Given the description of an element on the screen output the (x, y) to click on. 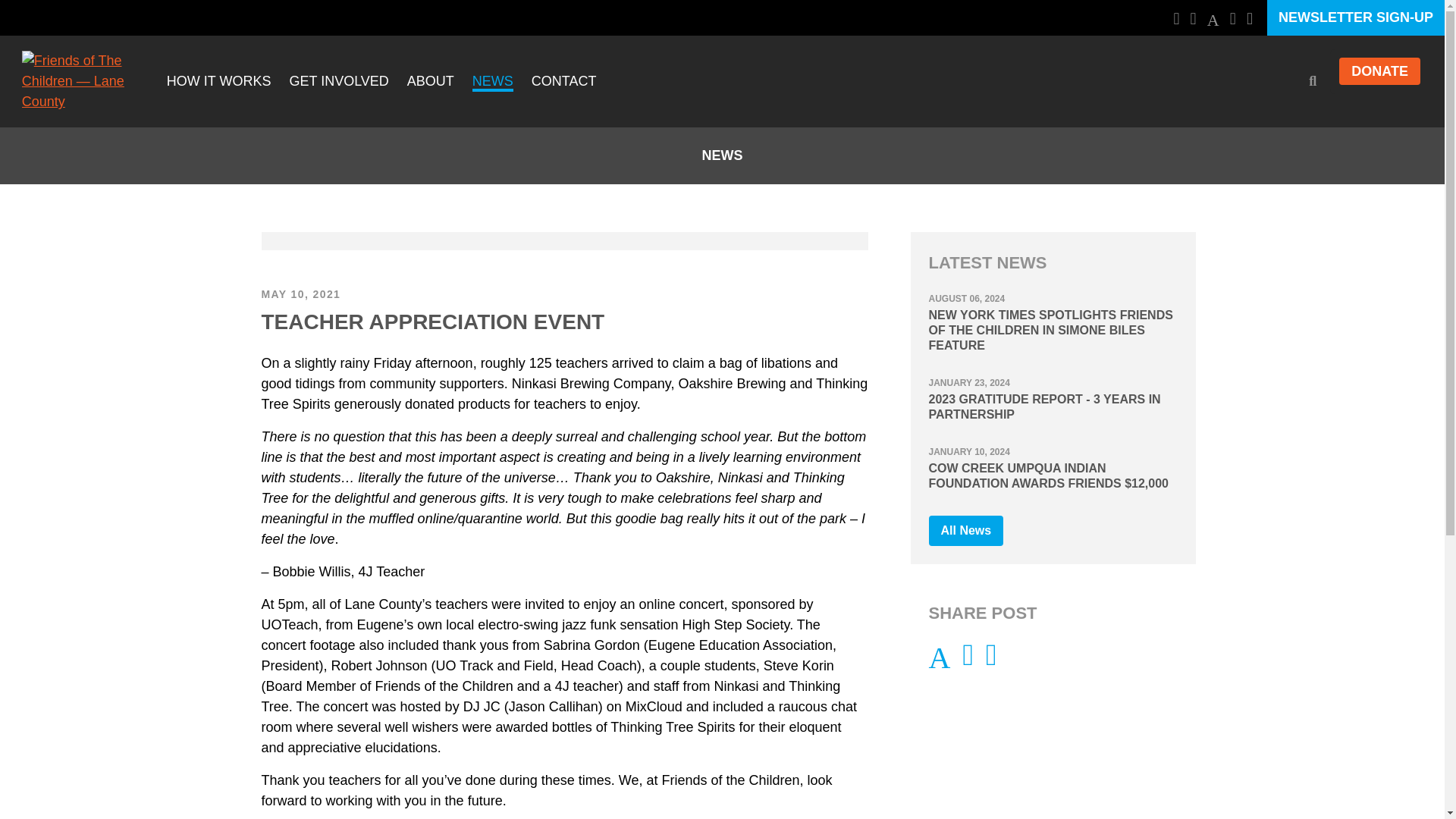
GET INVOLVED (338, 82)
DONATE (1380, 71)
HOW IT WORKS (218, 82)
NEWS (492, 82)
AUGUST 06, 2024 (966, 296)
ABOUT (430, 82)
JANUARY 10, 2024 (968, 450)
2023 GRATITUDE REPORT - 3 YEARS IN PARTNERSHIP (1052, 407)
JANUARY 23, 2024 (968, 381)
